Given the description of an element on the screen output the (x, y) to click on. 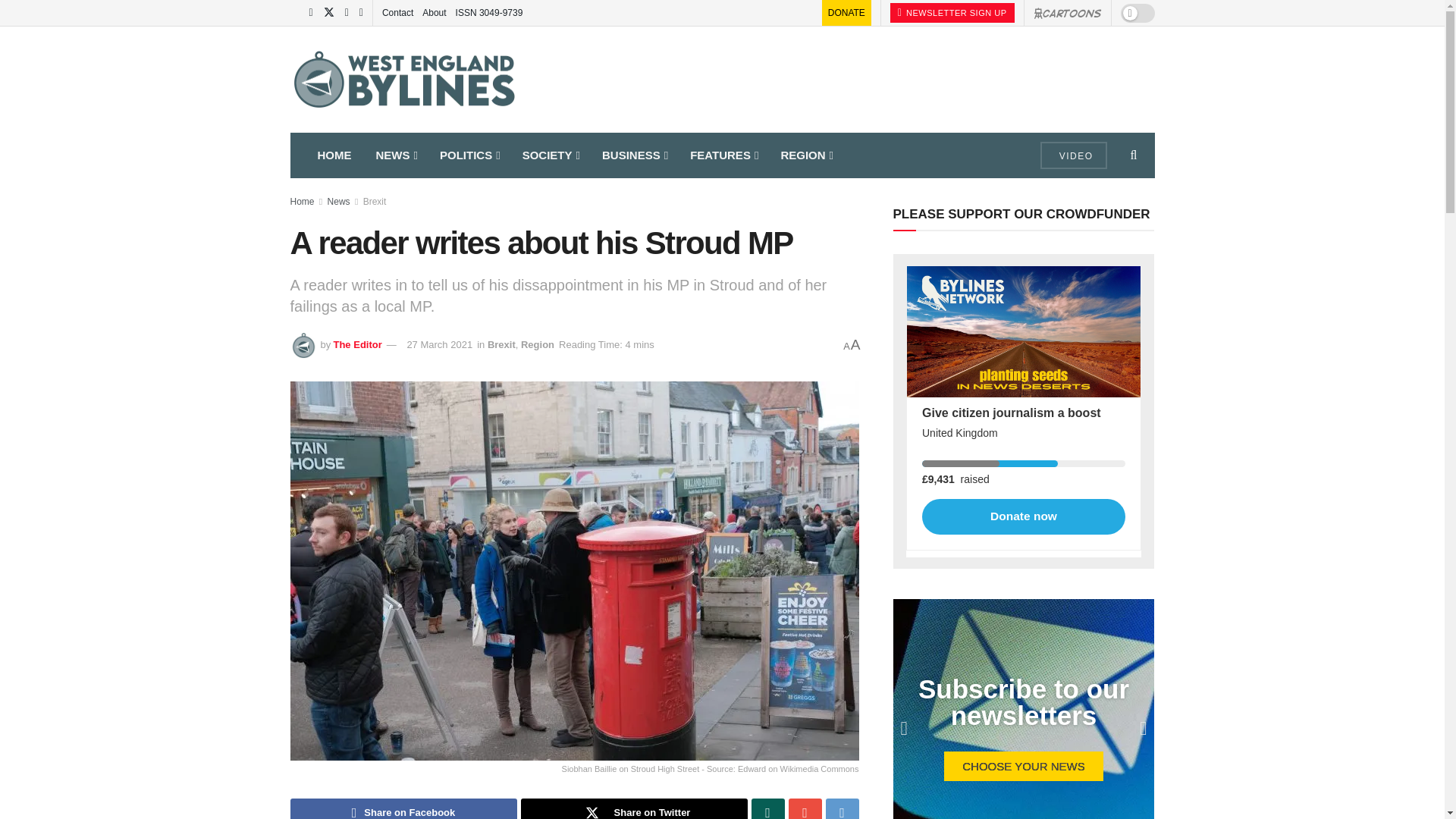
HOME (333, 155)
REGION (805, 155)
Region (537, 344)
About (433, 12)
NEWSLETTER SIGN UP (951, 12)
Home (301, 201)
Brexit (501, 344)
ISSN 3049-9739 (488, 12)
VIDEO (1073, 154)
FEATURES (723, 155)
